Given the description of an element on the screen output the (x, y) to click on. 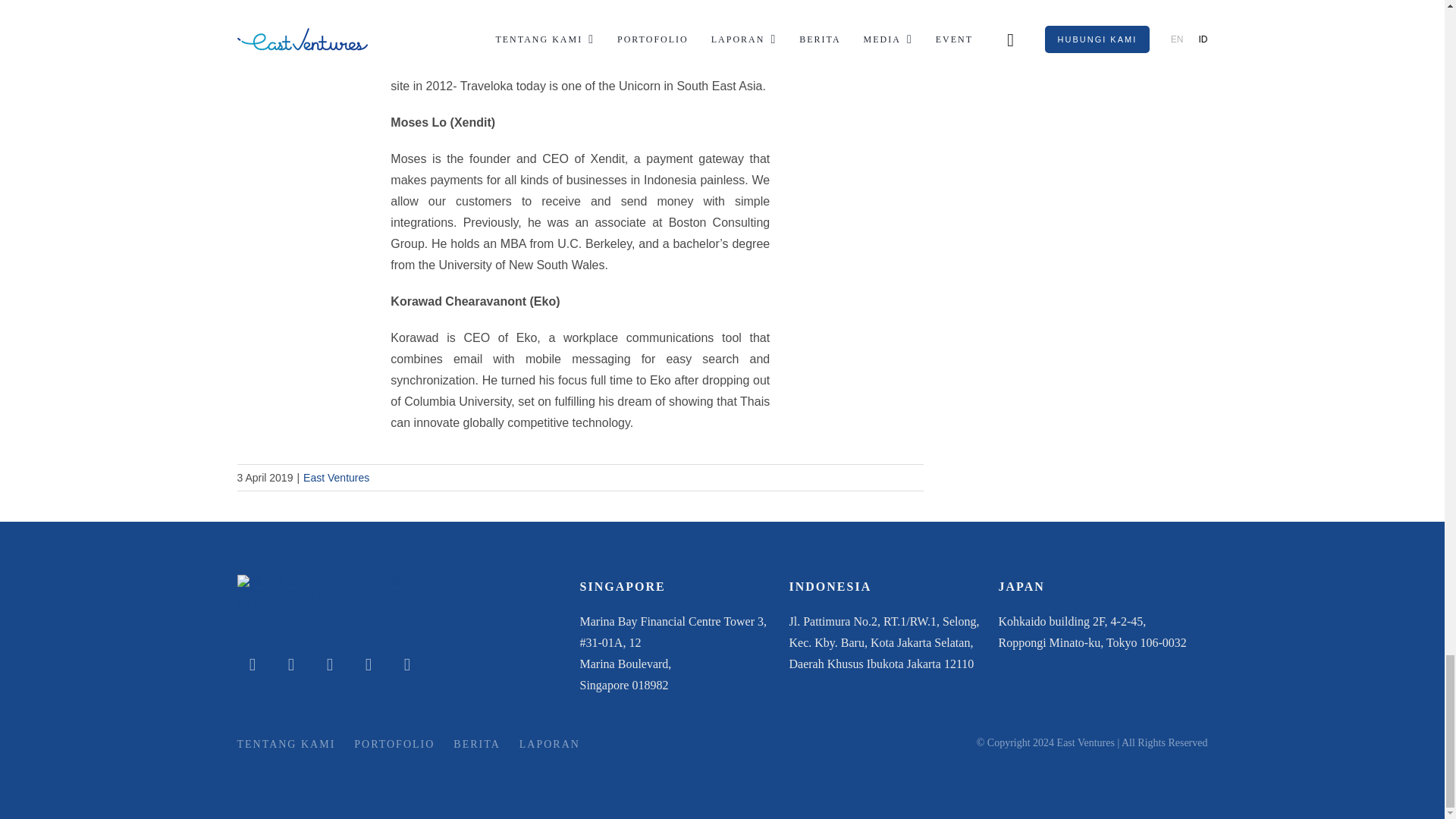
East Ventures (335, 477)
Instagram (291, 664)
Facebook (368, 664)
X (329, 664)
LinkedIn (251, 664)
YouTube (406, 664)
